Given the description of an element on the screen output the (x, y) to click on. 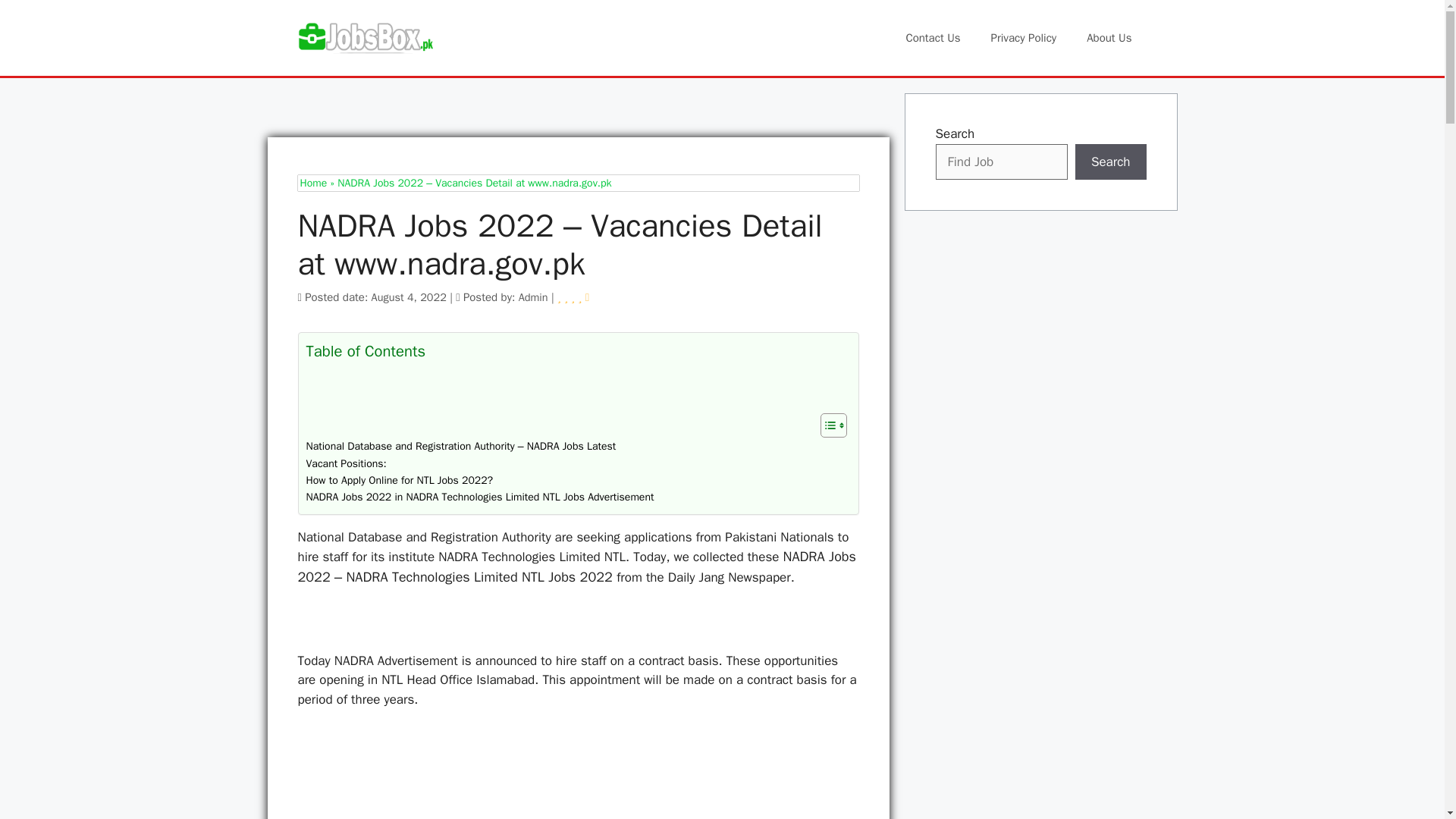
How to Apply Online for NTL Jobs 2022? (399, 480)
Vacant Positions: (346, 463)
About Us (1109, 37)
Vacant Positions: (346, 463)
Privacy Policy (1023, 37)
How to Apply Online for NTL Jobs 2022? (399, 480)
Contact Us (932, 37)
Search (1111, 162)
Home (313, 182)
